Given the description of an element on the screen output the (x, y) to click on. 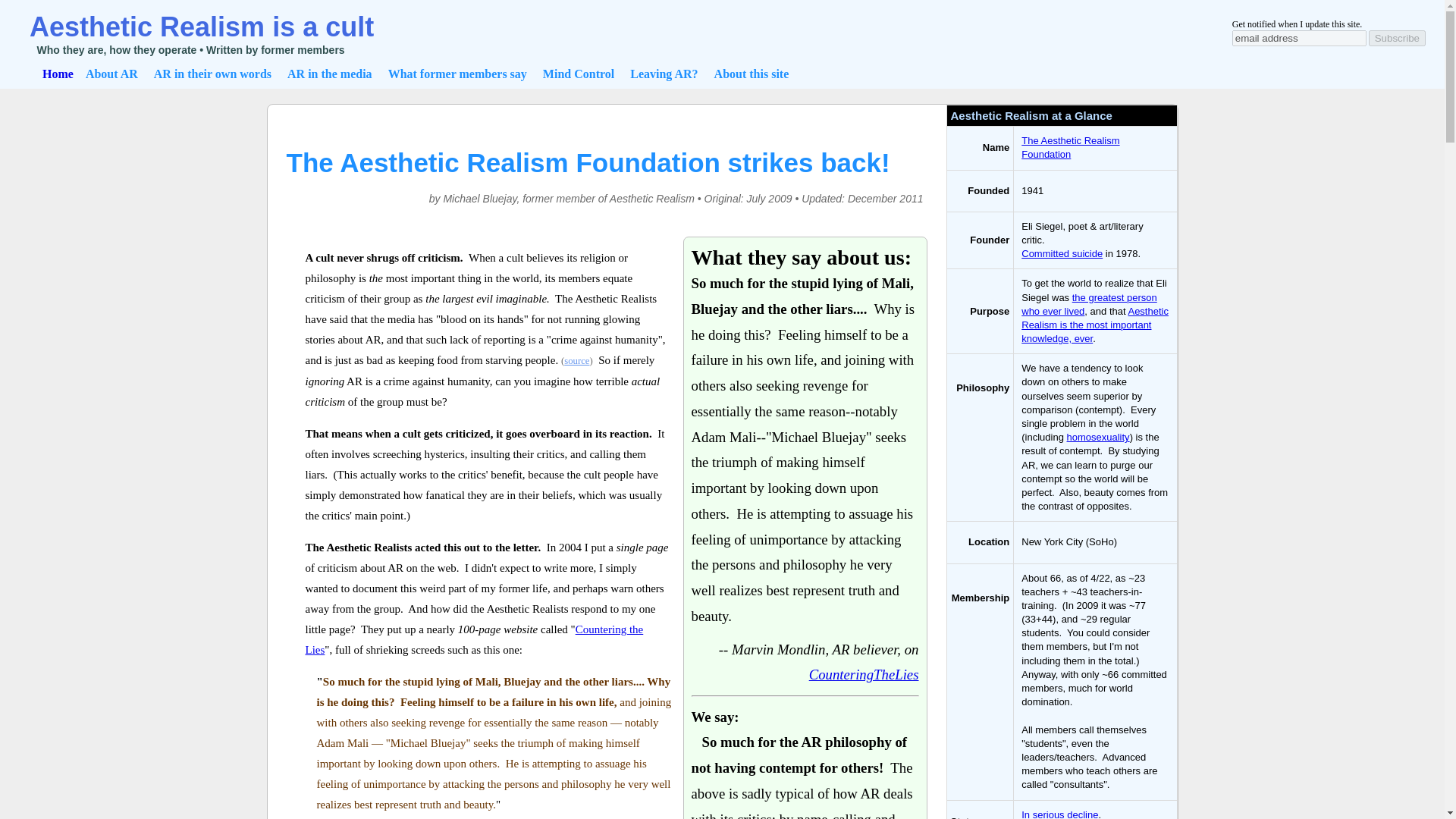
Home (58, 73)
Subscribe (1396, 37)
email address (1299, 37)
Subscribe (1396, 37)
Aesthetic Realism is a cult (201, 26)
